Given the description of an element on the screen output the (x, y) to click on. 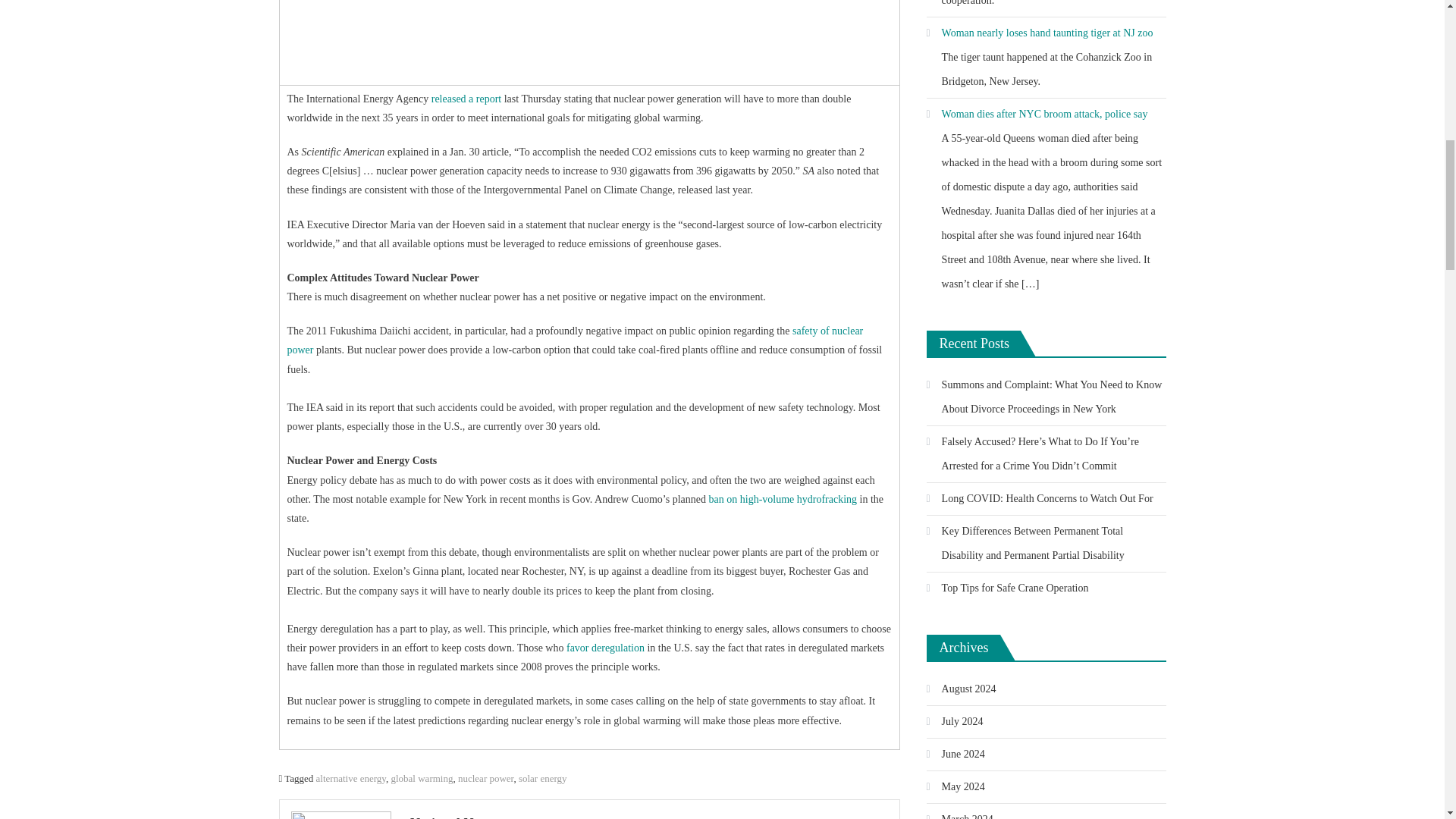
released a report (466, 98)
alternative energy (350, 778)
solar energy (542, 778)
favor deregulation (605, 647)
safety of nuclear power (574, 340)
nuclear power (485, 778)
National News (649, 815)
ban on high-volume hydrofracking (783, 499)
global warming (421, 778)
